Given the description of an element on the screen output the (x, y) to click on. 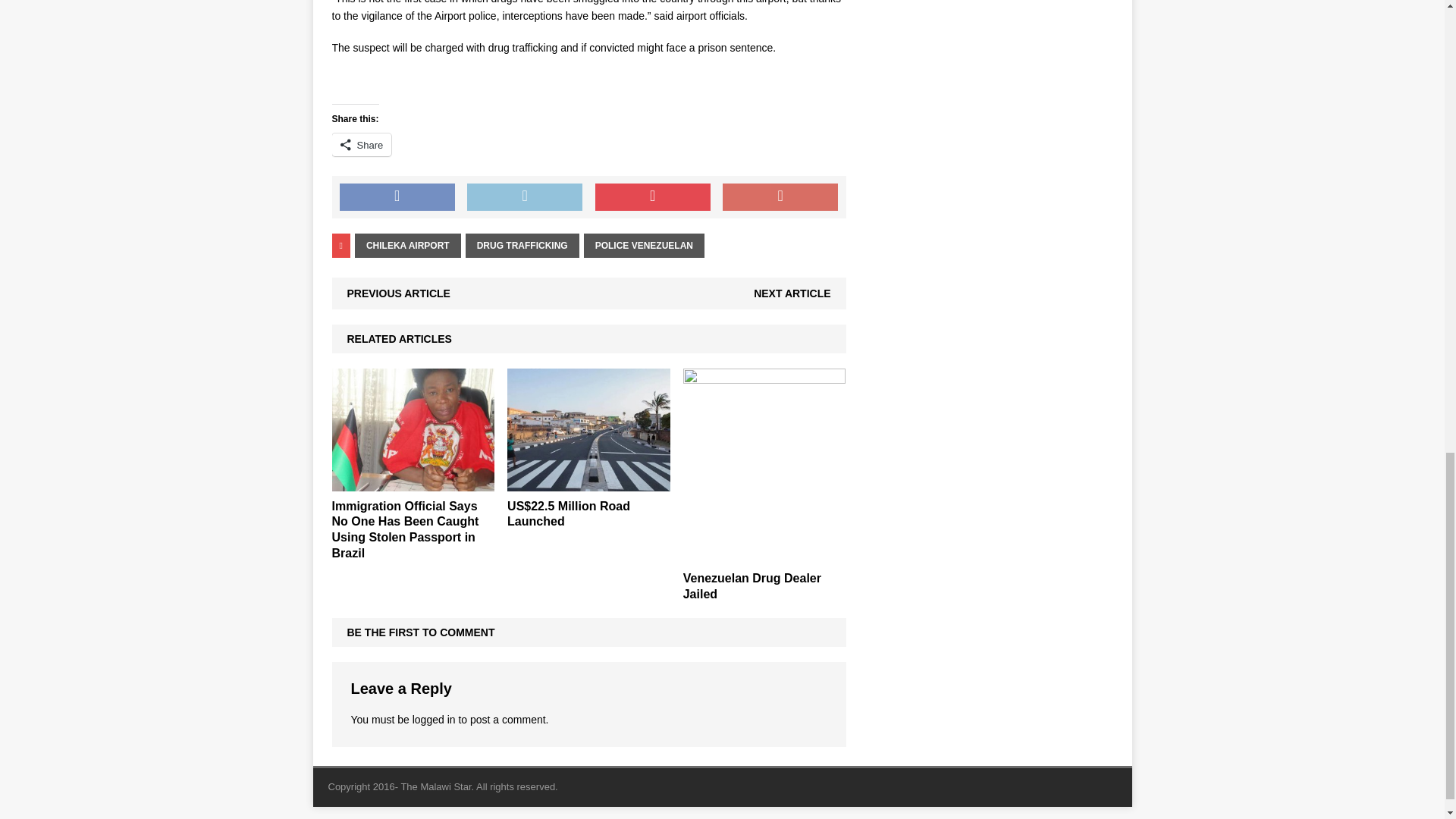
DRUG TRAFFICKING (522, 245)
CHILEKA AIRPORT (408, 245)
Share (361, 144)
POLICE VENEZUELAN (643, 245)
